Given the description of an element on the screen output the (x, y) to click on. 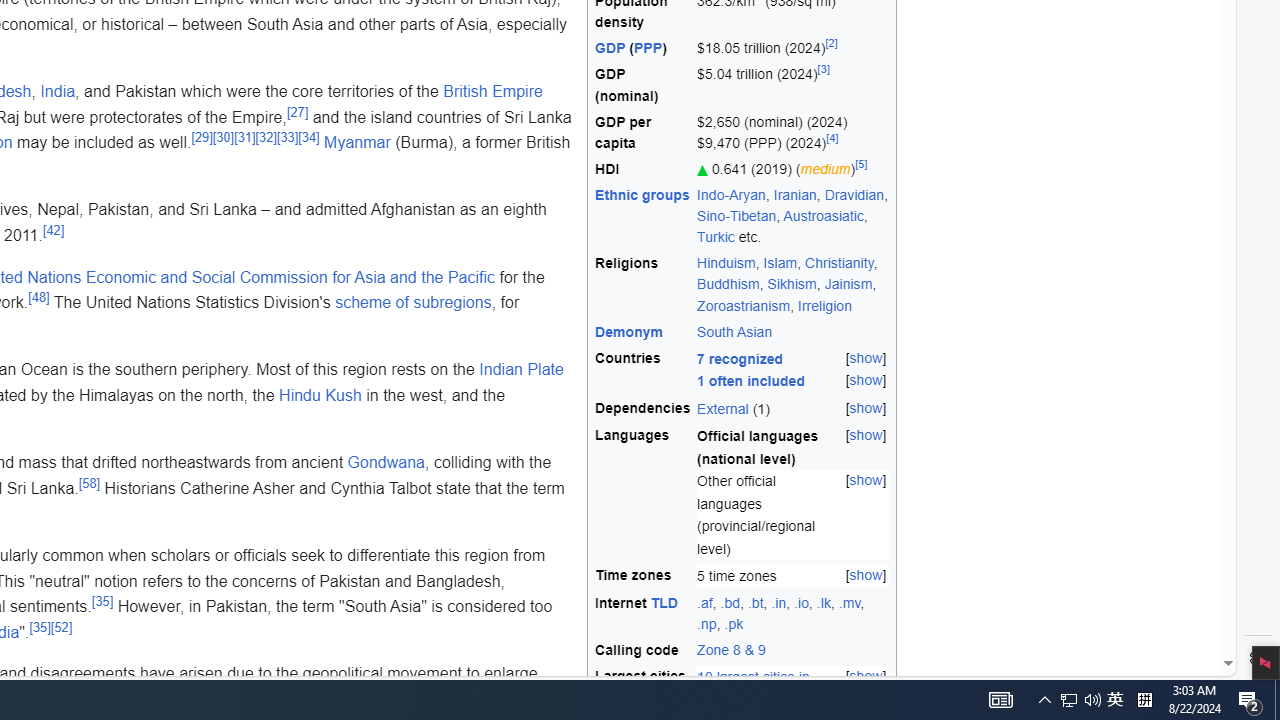
Sikhism (791, 284)
.np (706, 624)
Religions (643, 284)
Increase 0.641 (2019) (medium)[5] (793, 168)
Ethnic groups (642, 195)
[show] 5 time zones (793, 575)
[5] (861, 164)
[27] (296, 111)
.af, .bd, .bt, .in, .io, .lk, .mv, .np, .pk (793, 614)
.bd (730, 602)
.bt (755, 602)
Hindu Kush (320, 394)
[3] (823, 69)
[31] (245, 136)
Ethnic groups (643, 216)
